Given the description of an element on the screen output the (x, y) to click on. 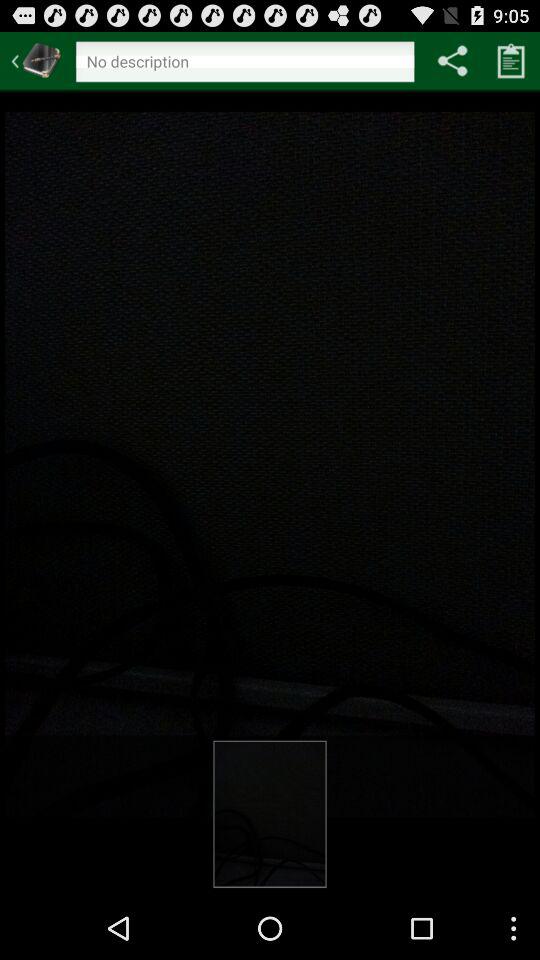
clipboard icon (511, 60)
